Given the description of an element on the screen output the (x, y) to click on. 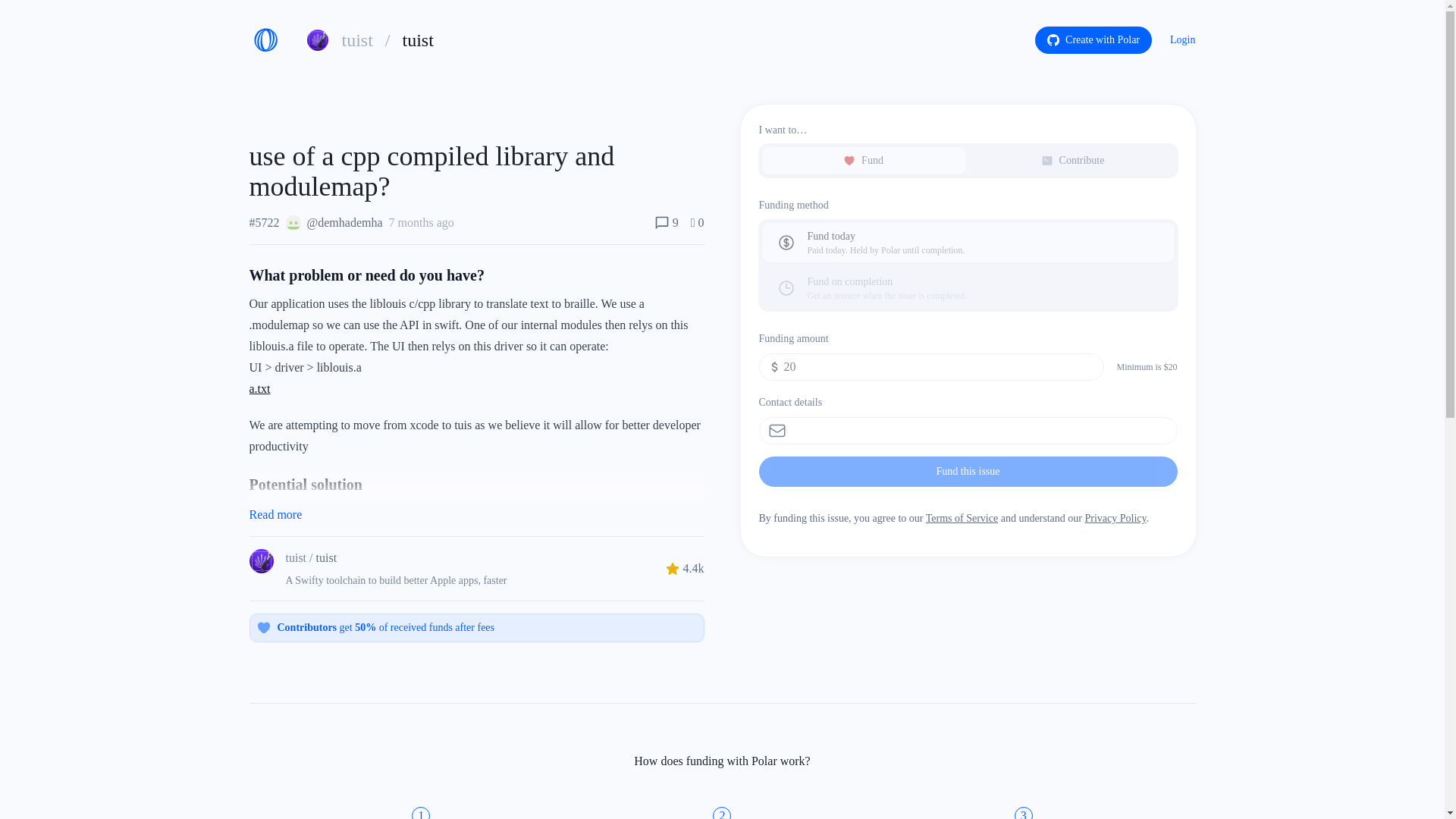
Fund (862, 160)
tuist (418, 39)
Fund this issue (967, 471)
Privacy Policy (1114, 518)
a.txt (258, 388)
20 (967, 242)
2023-12-27 03:30 (930, 366)
Create with Polar (421, 222)
tuist (1093, 40)
Read more (326, 557)
tuist (274, 513)
tuist (295, 557)
Terms of Service (356, 39)
